Given the description of an element on the screen output the (x, y) to click on. 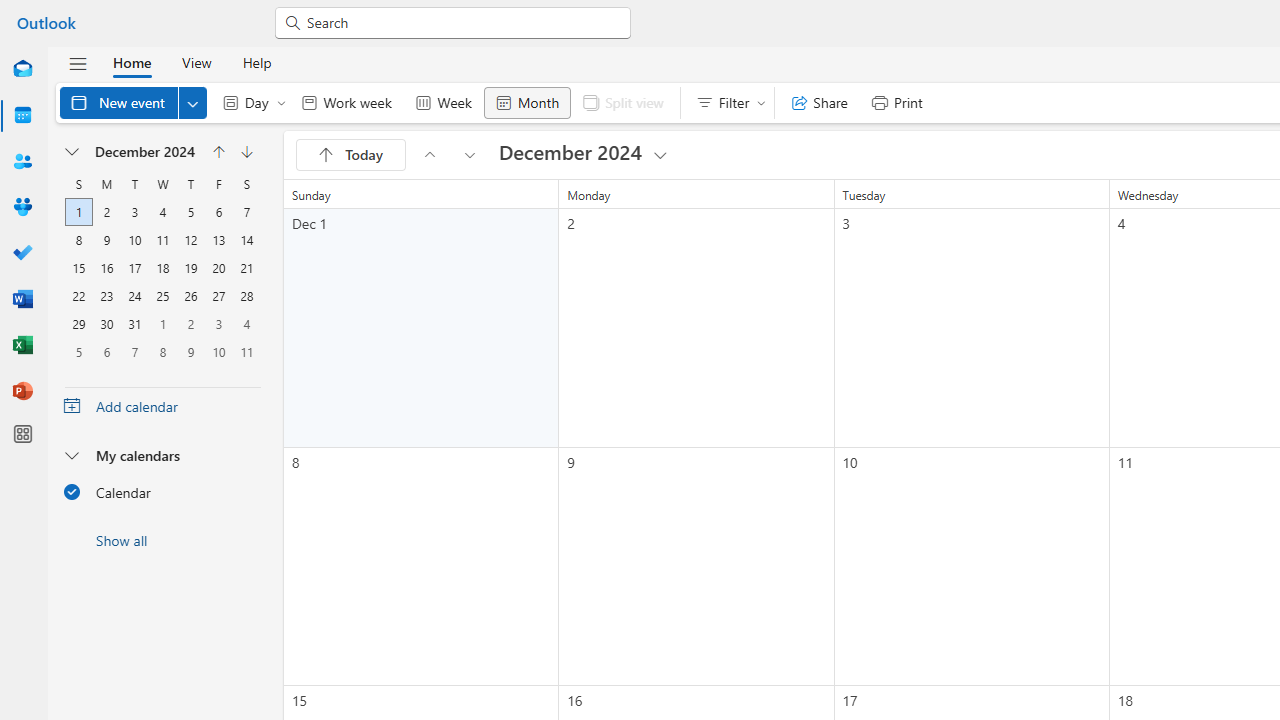
Expand to see more Day options (281, 102)
Go to next month January (246, 152)
12, December, 2024 (191, 240)
29, December, 2024 (78, 323)
Friday (218, 183)
9, December, 2024 (106, 240)
Excel (22, 345)
My calendars (162, 455)
8, December, 2024 (78, 240)
28, December, 2024 (246, 296)
4, December, 2024 (162, 212)
Sunday (79, 183)
2, January, 2025 (191, 323)
Work week (346, 102)
23, December, 2024 (106, 295)
